Given the description of an element on the screen output the (x, y) to click on. 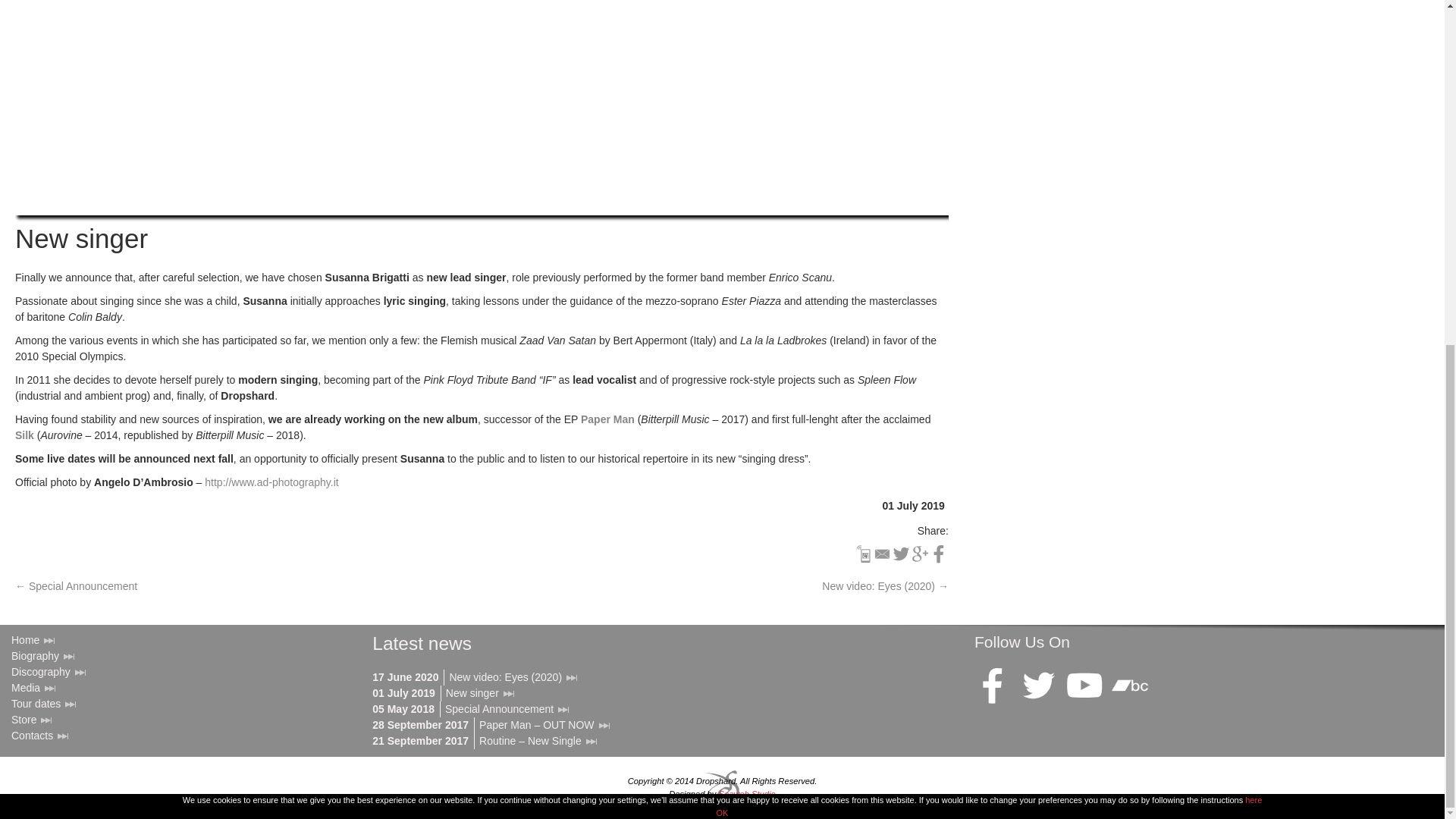
Share via mail (881, 553)
Paper Man (607, 419)
Dropshard on Bandcamp (1129, 685)
Share via QR Code (862, 553)
Silk (23, 435)
Dropshard on Youtube (1084, 685)
Dropshard on Facebook (992, 685)
Dropshard on Twitter (1039, 685)
Share on Twitter (901, 553)
Share on Facebook (939, 553)
